Given the description of an element on the screen output the (x, y) to click on. 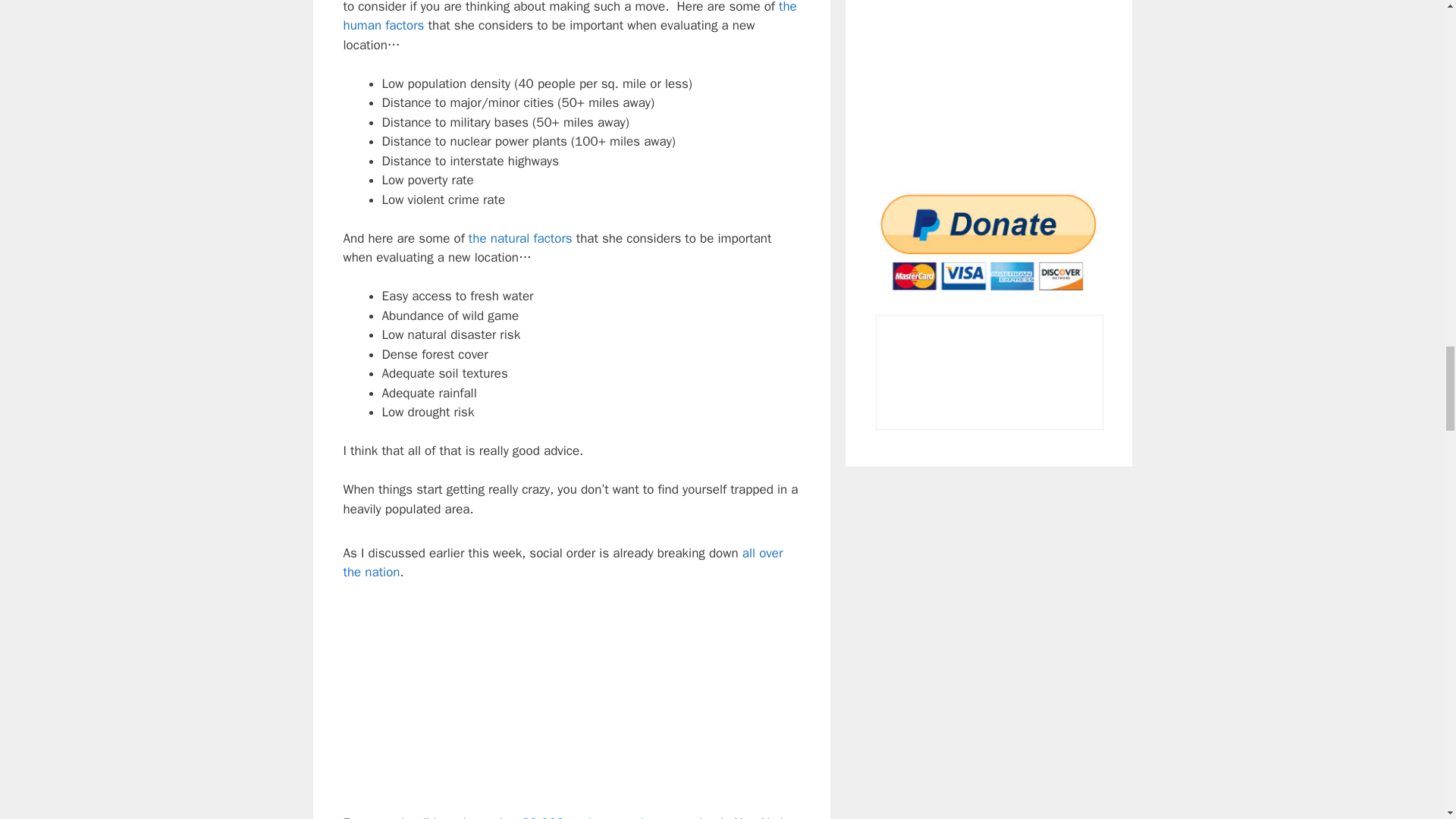
the natural factors (520, 238)
90,000 packages a day (588, 816)
the human factors (569, 17)
all over the nation (562, 562)
all over the nation (562, 562)
the natural factors (520, 238)
the human factors (569, 17)
